Given the description of an element on the screen output the (x, y) to click on. 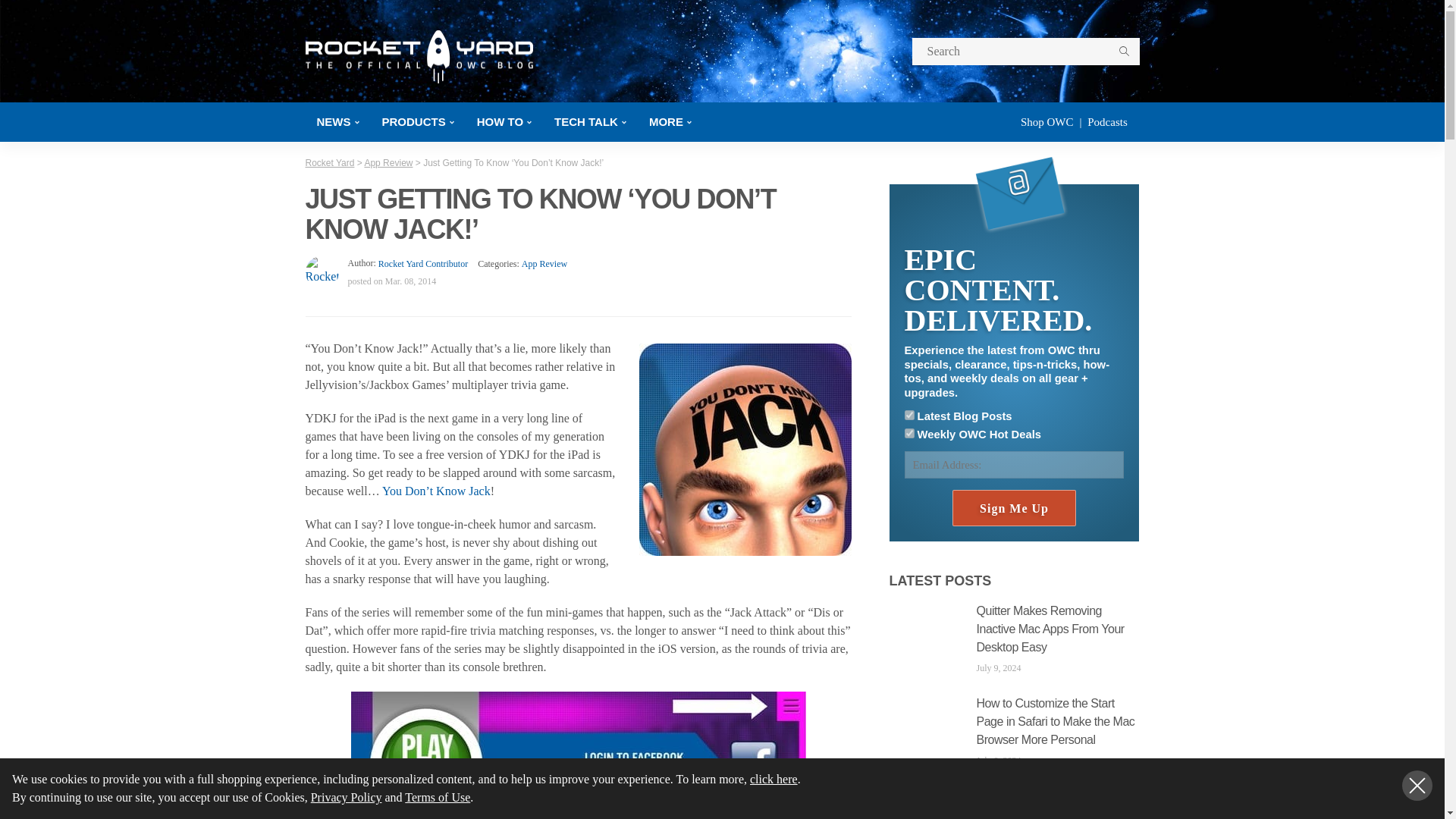
Go to Rocket Yard. (328, 163)
search for: (1024, 51)
NEWS (336, 121)
Sign Me Up (1013, 507)
App Review (544, 263)
0bcd03ec00000000000000000000001f995c (909, 415)
Go to the App Review category archives. (388, 163)
